Given the description of an element on the screen output the (x, y) to click on. 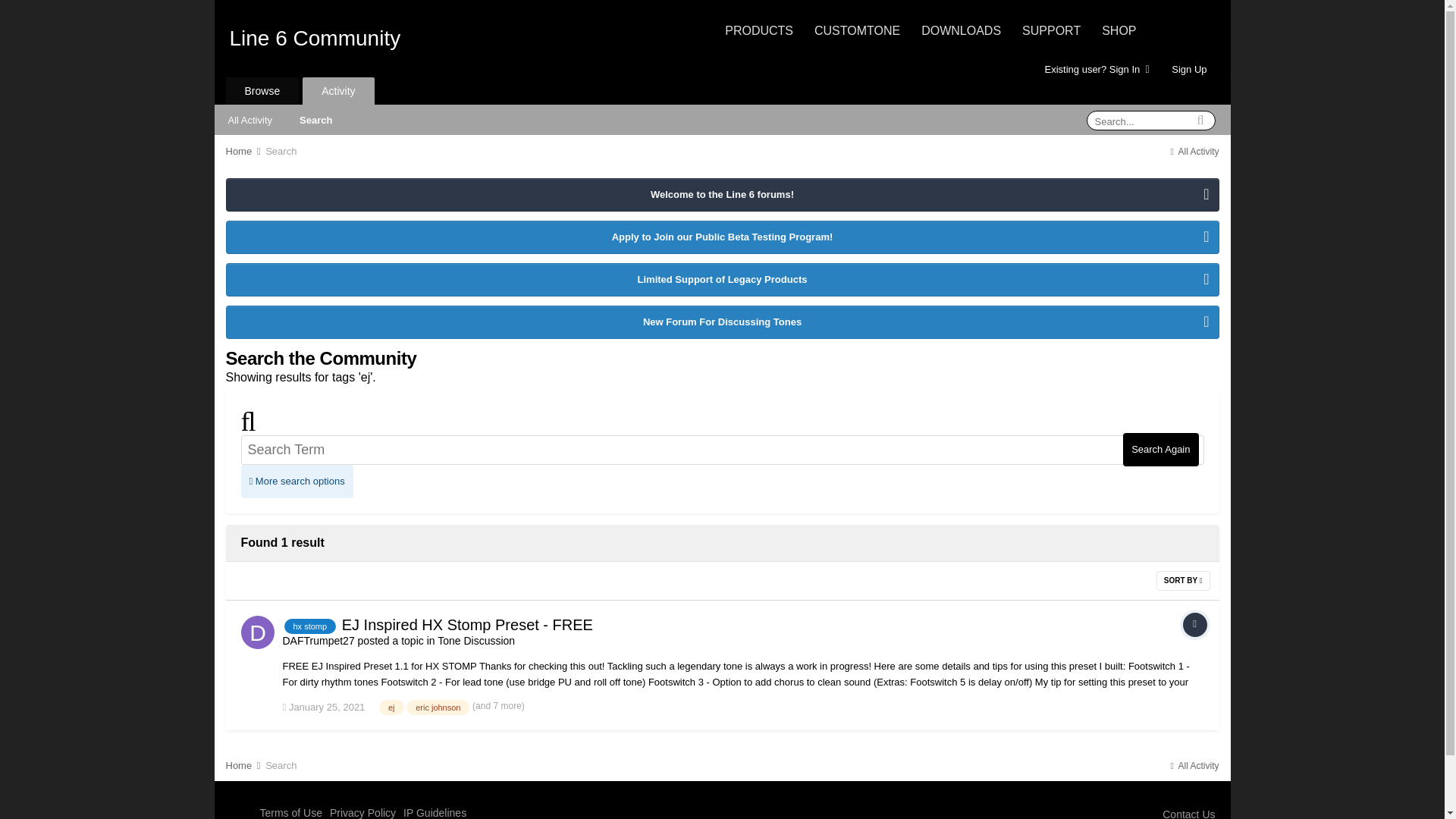
Support (1051, 30)
More search options (297, 481)
New Forum For Discussing Tones (721, 322)
Search Again (1160, 449)
Topic (1194, 624)
All Activity (249, 118)
Apply to Join our Public Beta Testing Program! (721, 237)
Home (244, 151)
Welcome to the Line 6 forums! (721, 194)
Products (759, 30)
Limited Support of Legacy Products (721, 279)
All Activity (1192, 151)
Search (315, 118)
CustomTone (856, 30)
Browse (262, 90)
